Given the description of an element on the screen output the (x, y) to click on. 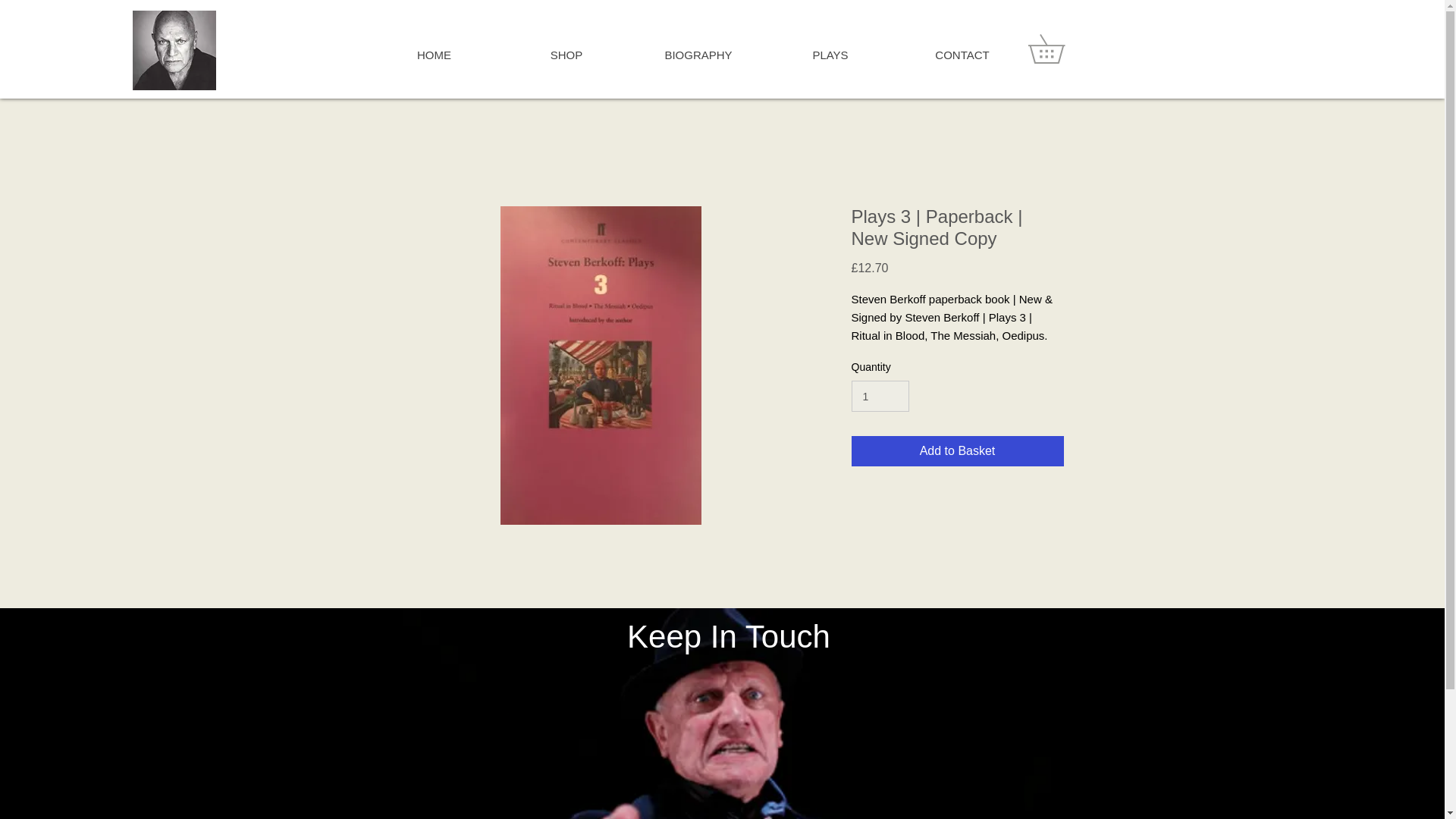
CONTACT (961, 55)
HOME (434, 55)
1 (879, 395)
PLAYS (830, 55)
Add to Basket (956, 450)
BIOGRAPHY (697, 55)
SHOP (565, 55)
